Given the description of an element on the screen output the (x, y) to click on. 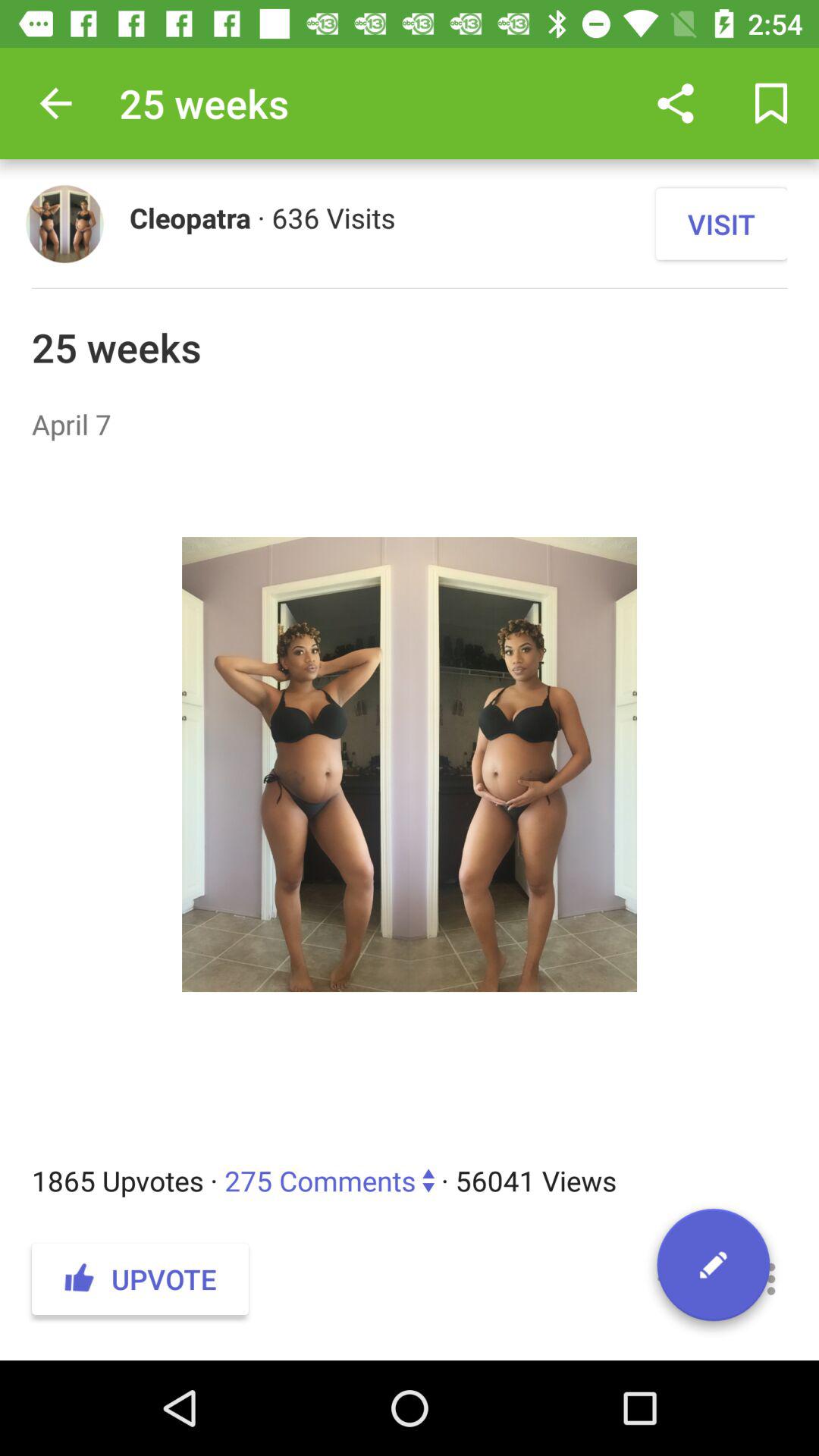
select app to the left of the 25 weeks item (55, 103)
